Given the description of an element on the screen output the (x, y) to click on. 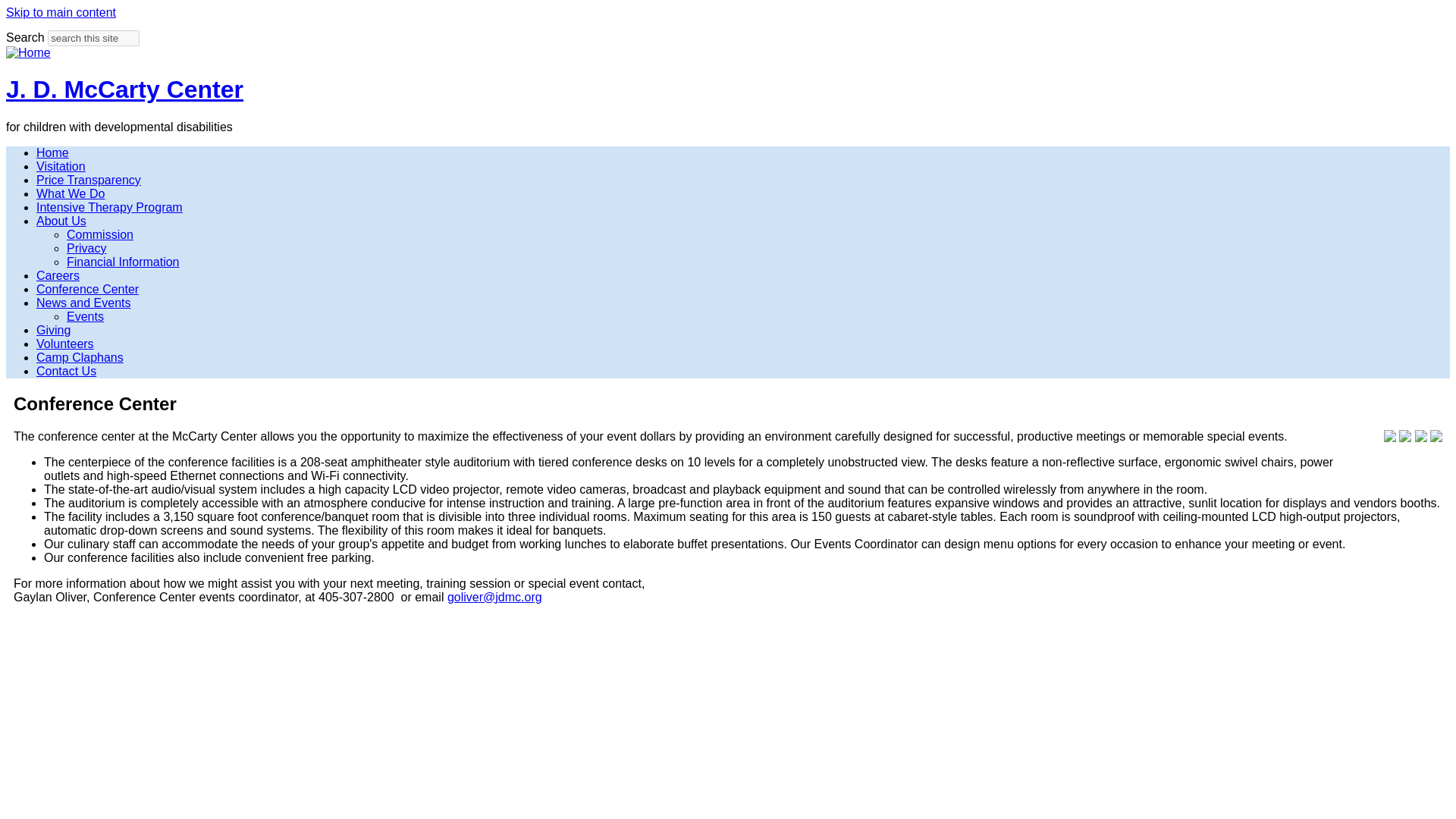
No Patient Left Alone Act (60, 165)
About Us (60, 220)
Skip to main content (60, 11)
Home (27, 51)
Visitation (60, 165)
Intensive Therapy Program (109, 206)
Financial Information (122, 261)
Price Transparency (88, 179)
News and Events (83, 302)
Giving (52, 329)
